Given the description of an element on the screen output the (x, y) to click on. 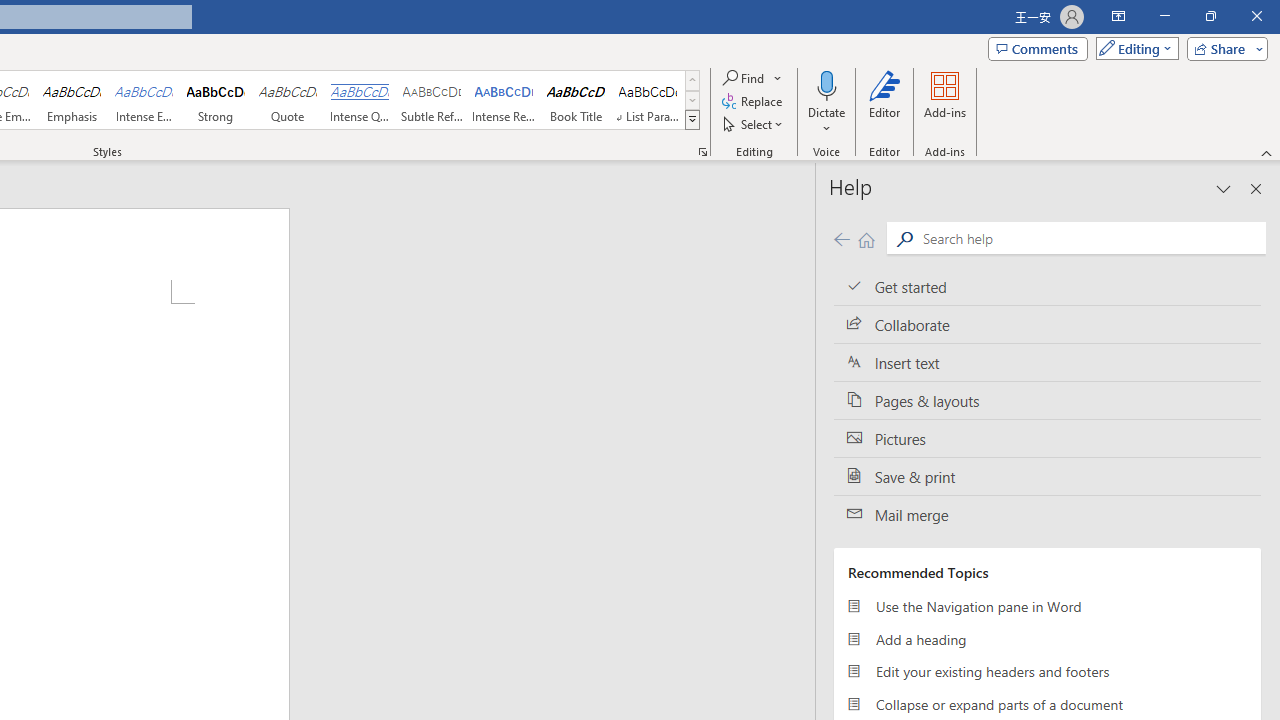
Mail merge (1047, 515)
Book Title (575, 100)
Save & print (1047, 476)
Collaborate (1047, 325)
Edit your existing headers and footers (1047, 672)
Insert text (1047, 363)
